Given the description of an element on the screen output the (x, y) to click on. 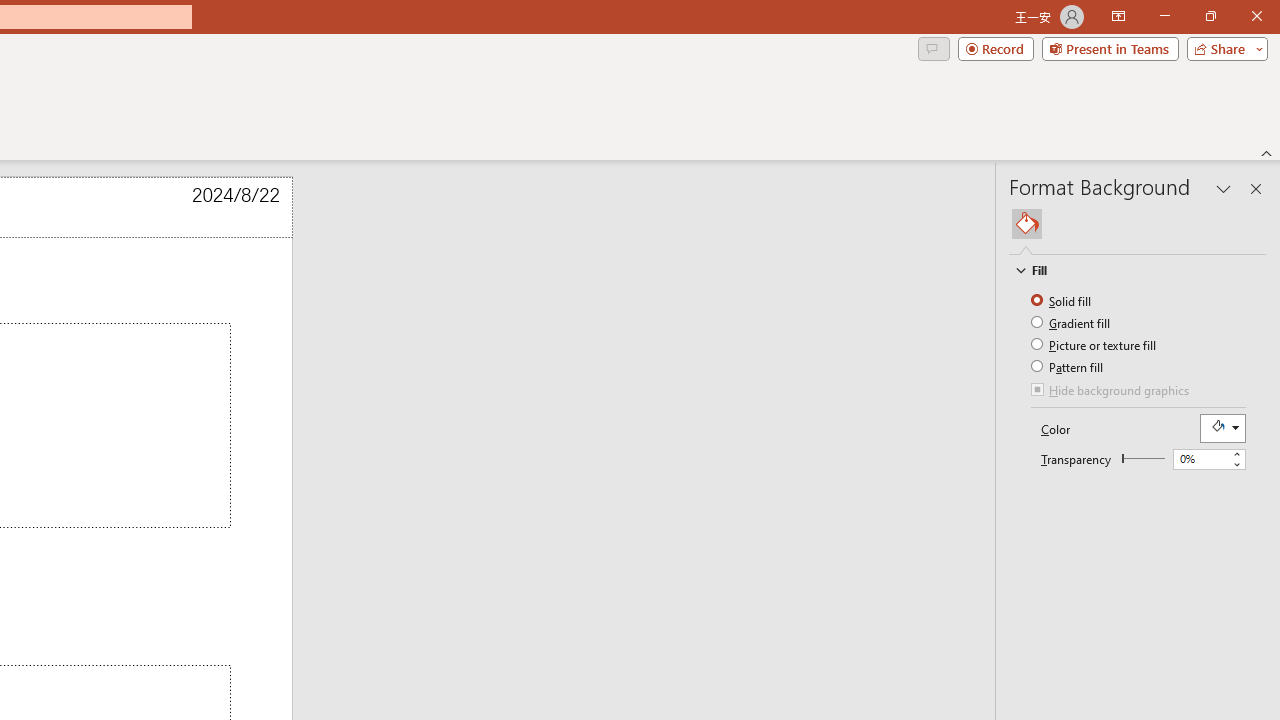
Pattern fill (1068, 366)
Picture or texture fill (1094, 344)
Less (1236, 463)
Transparency (1200, 459)
Fill (1027, 223)
Class: NetUIImage (1020, 269)
More (1236, 454)
Transparency (1208, 459)
Transparency (1143, 458)
